Given the description of an element on the screen output the (x, y) to click on. 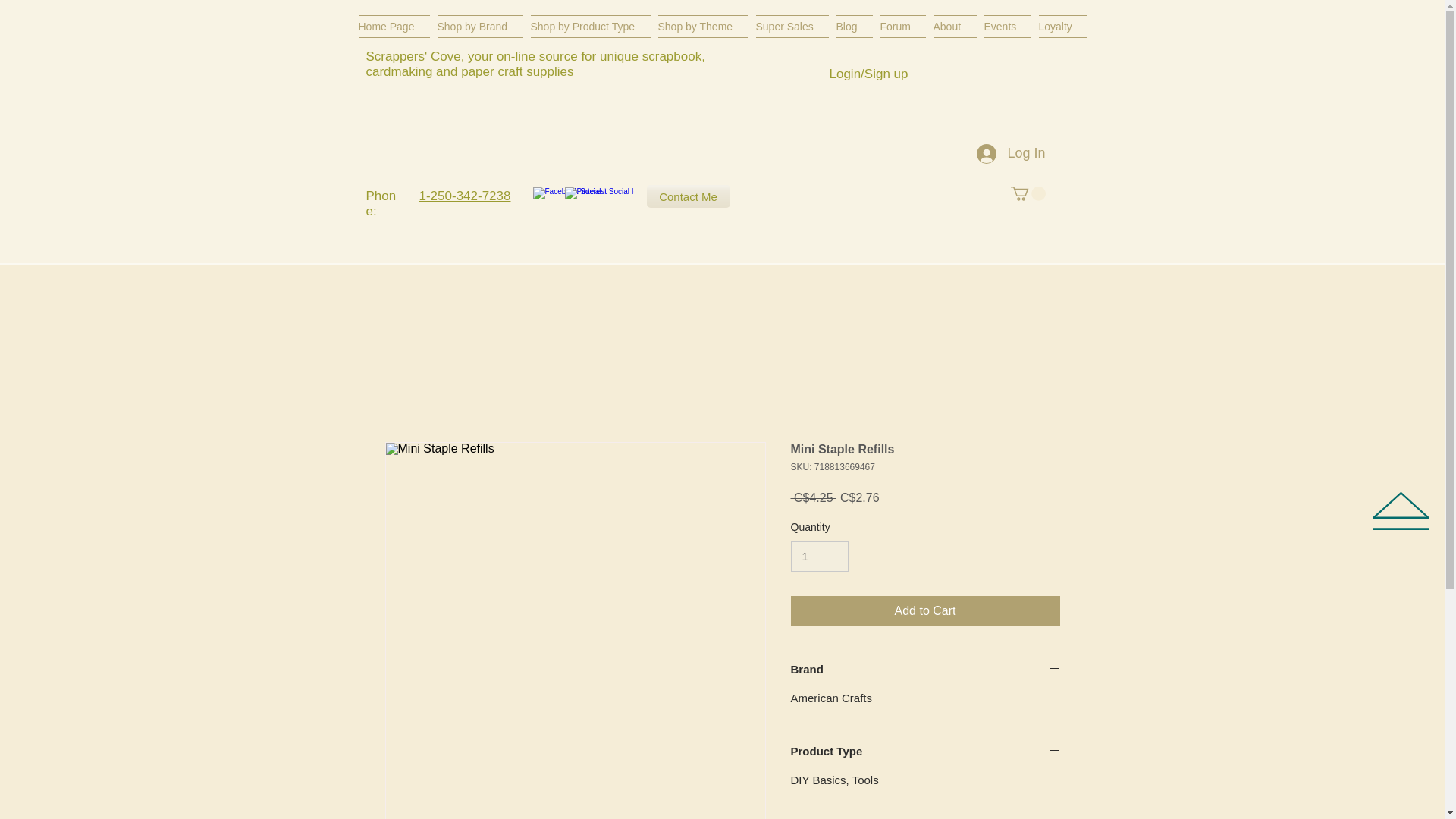
1 (818, 556)
Home Page (395, 26)
Shop by Brand (480, 26)
